Given the description of an element on the screen output the (x, y) to click on. 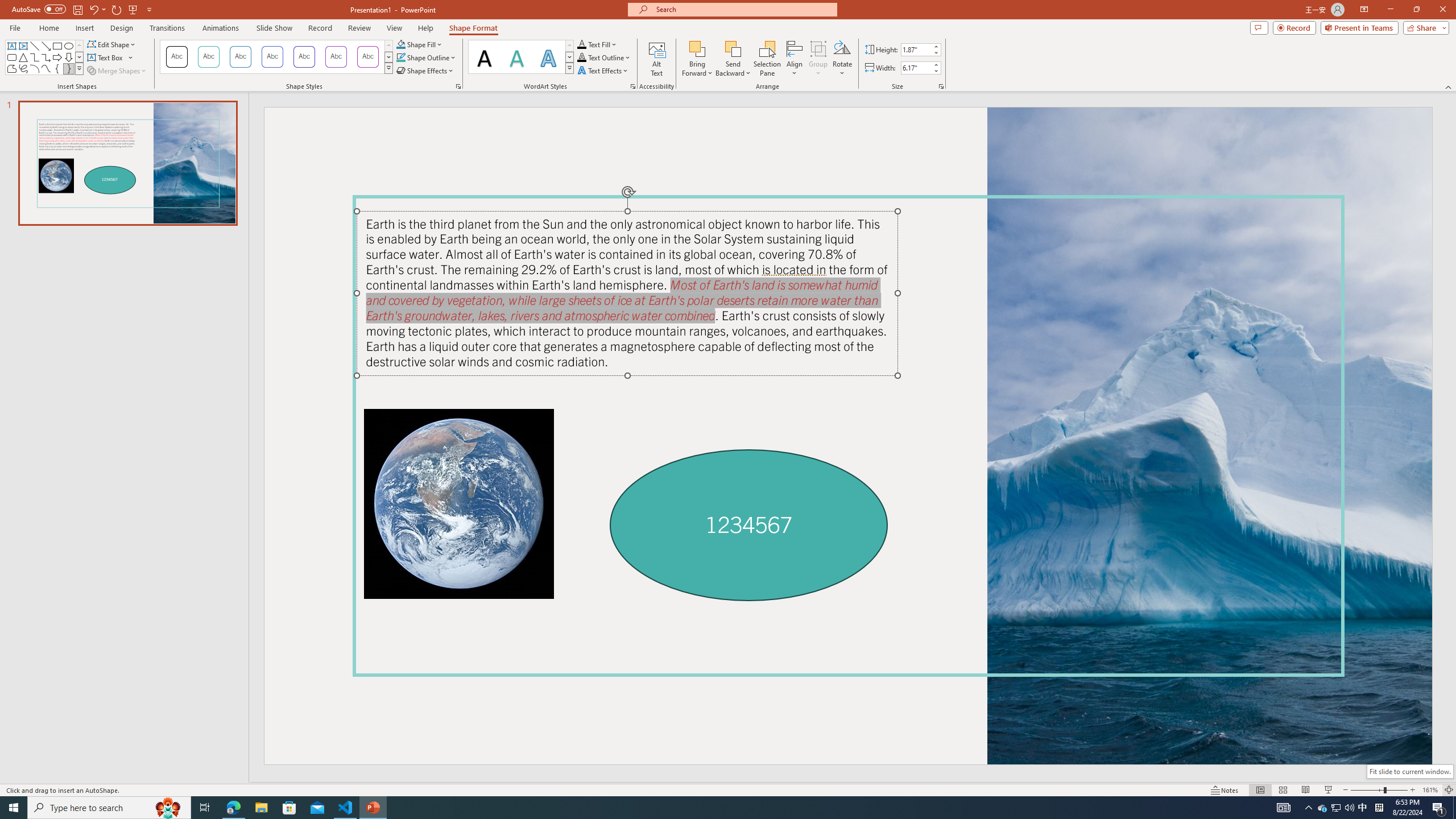
Quick Access Toolbar (82, 9)
Colored Outline - Purple, Accent 5 (336, 56)
Curve (46, 68)
Arc (34, 68)
Class: NetUIImage (569, 68)
Text Effects (603, 69)
Row Down (568, 56)
Vertical Text Box (23, 45)
Redo (117, 9)
Zoom Out (1367, 790)
Selection Pane... (767, 58)
Slide Show (273, 28)
Line (34, 45)
Microsoft search (742, 9)
Group (817, 58)
